Given the description of an element on the screen output the (x, y) to click on. 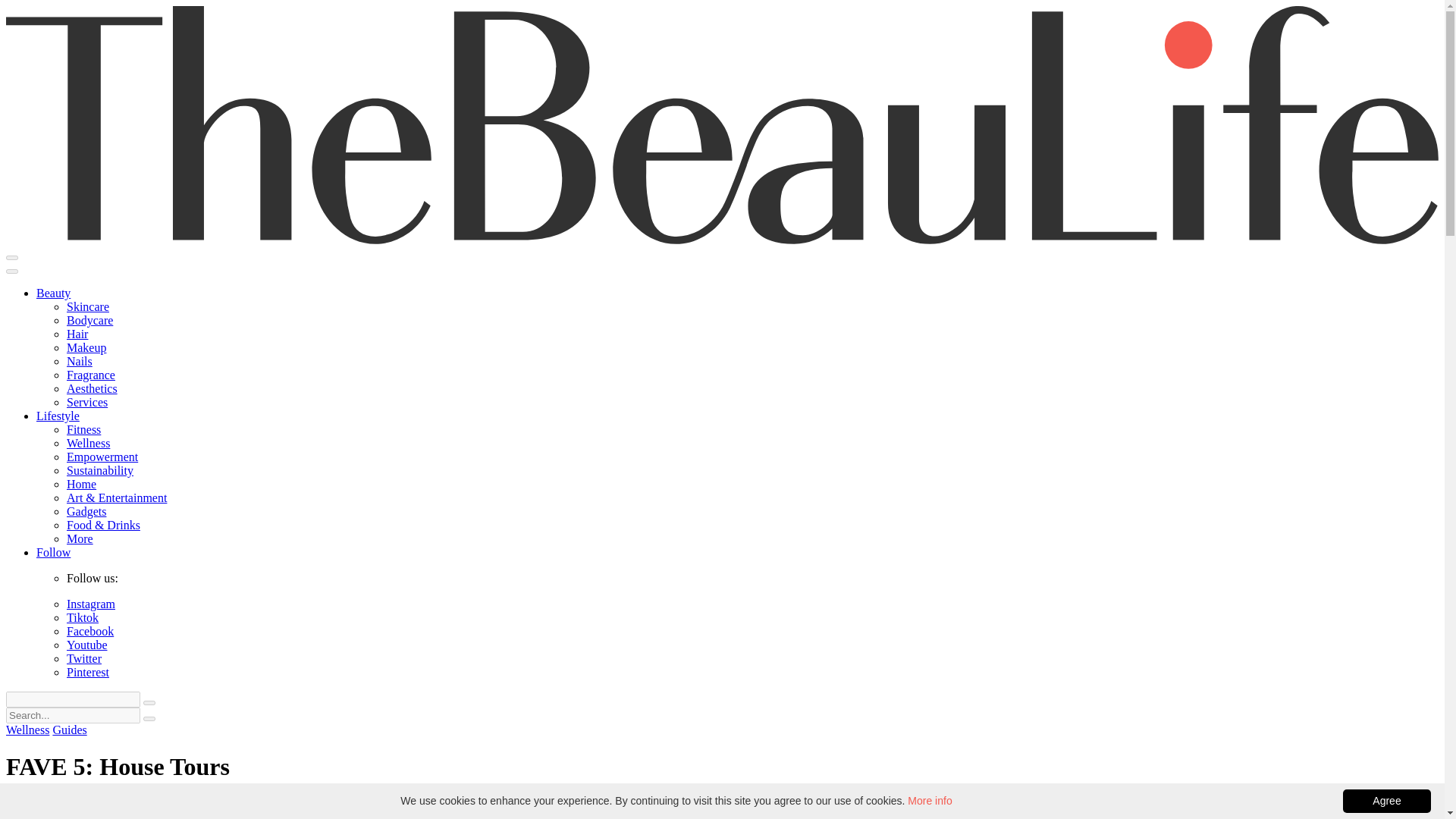
Makeup (86, 347)
Hair (76, 333)
Wellness (88, 442)
Facebook (89, 631)
Services (86, 401)
Guides (68, 729)
Fitness (83, 429)
Fragrance (90, 374)
Wellness (27, 729)
Skincare (87, 306)
Gadgets (86, 511)
Bodycare (89, 319)
Home (81, 483)
Follow (52, 552)
Youtube (86, 644)
